Given the description of an element on the screen output the (x, y) to click on. 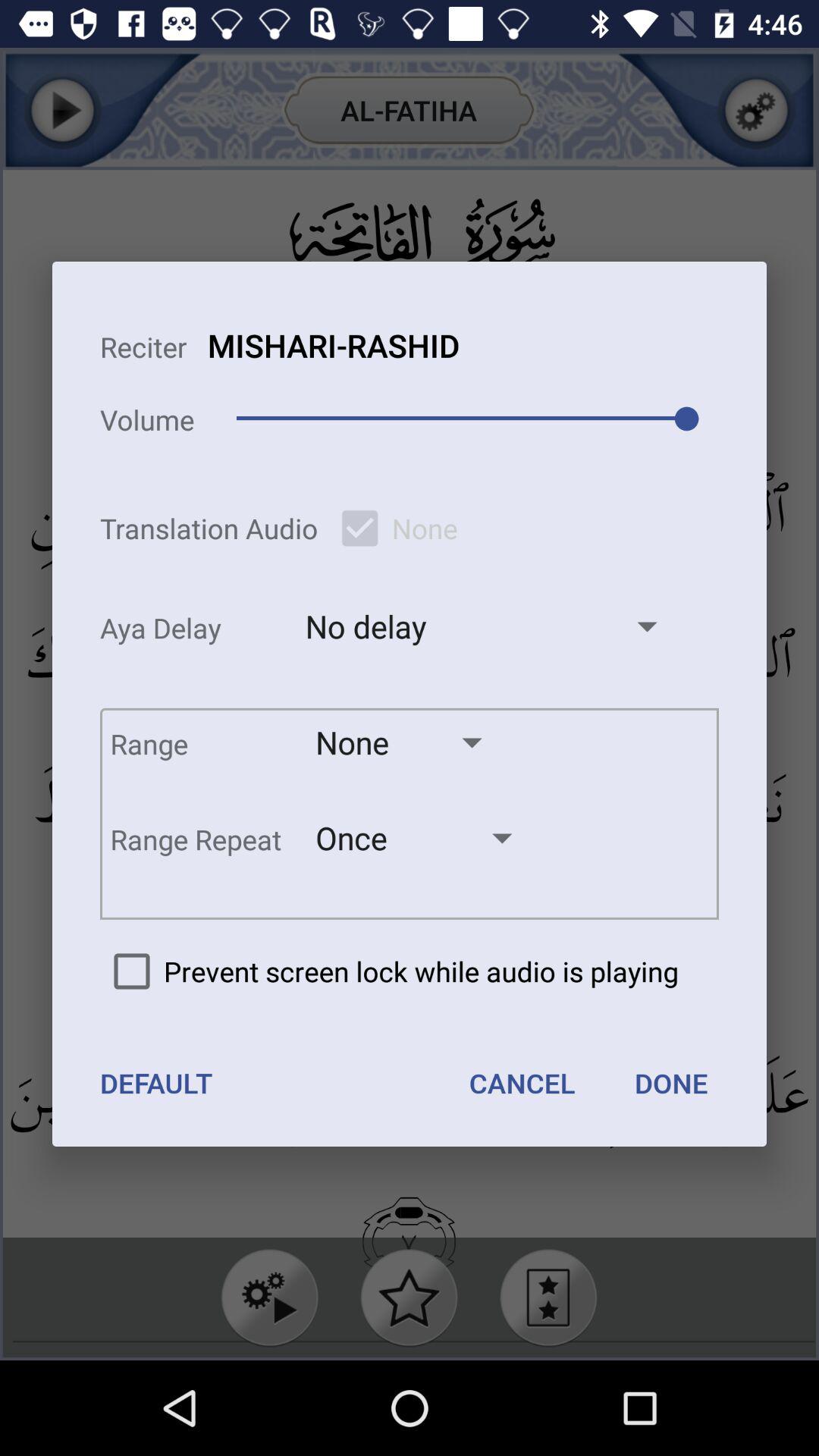
launch item below prevent screen lock icon (156, 1082)
